Given the description of an element on the screen output the (x, y) to click on. 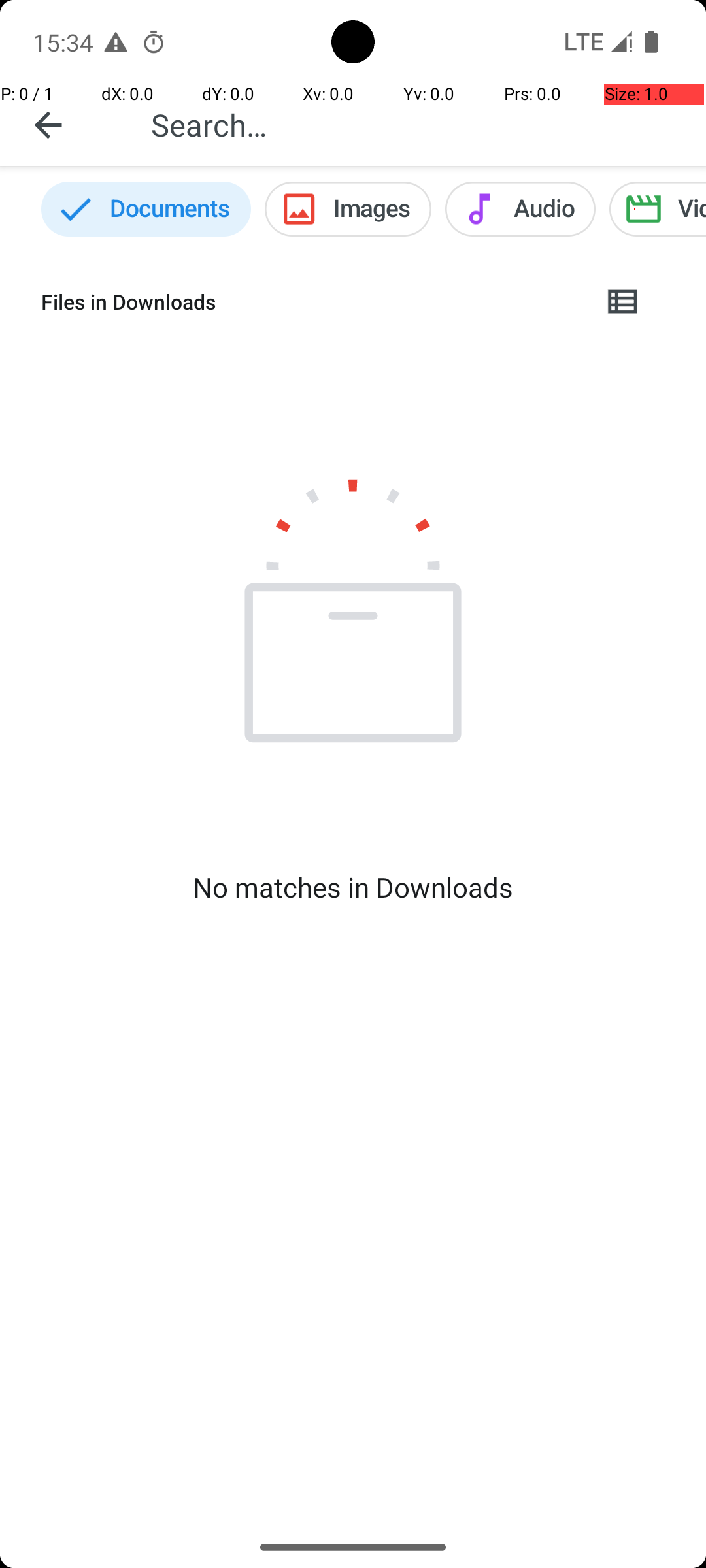
No matches in Downloads Element type: android.widget.TextView (352, 886)
